Given the description of an element on the screen output the (x, y) to click on. 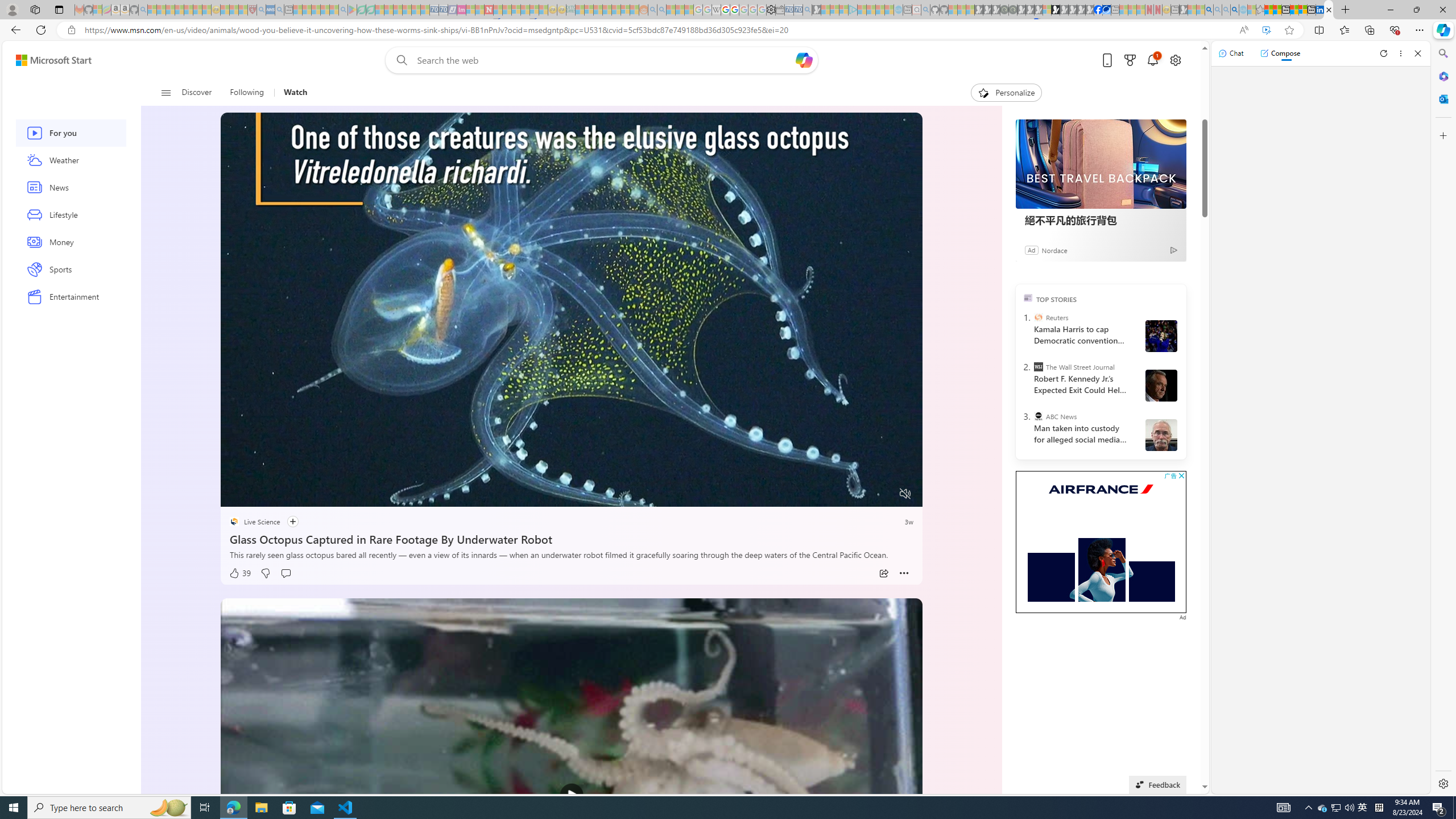
ABC News (1037, 415)
Compose (1279, 52)
Captions (861, 493)
New Report Confirms 2023 Was Record Hot | Watch - Sleeping (188, 9)
github - Search - Sleeping (924, 9)
Seek Back (260, 493)
Google Chrome Internet Browser Download - Search Images (1234, 9)
